Given the description of an element on the screen output the (x, y) to click on. 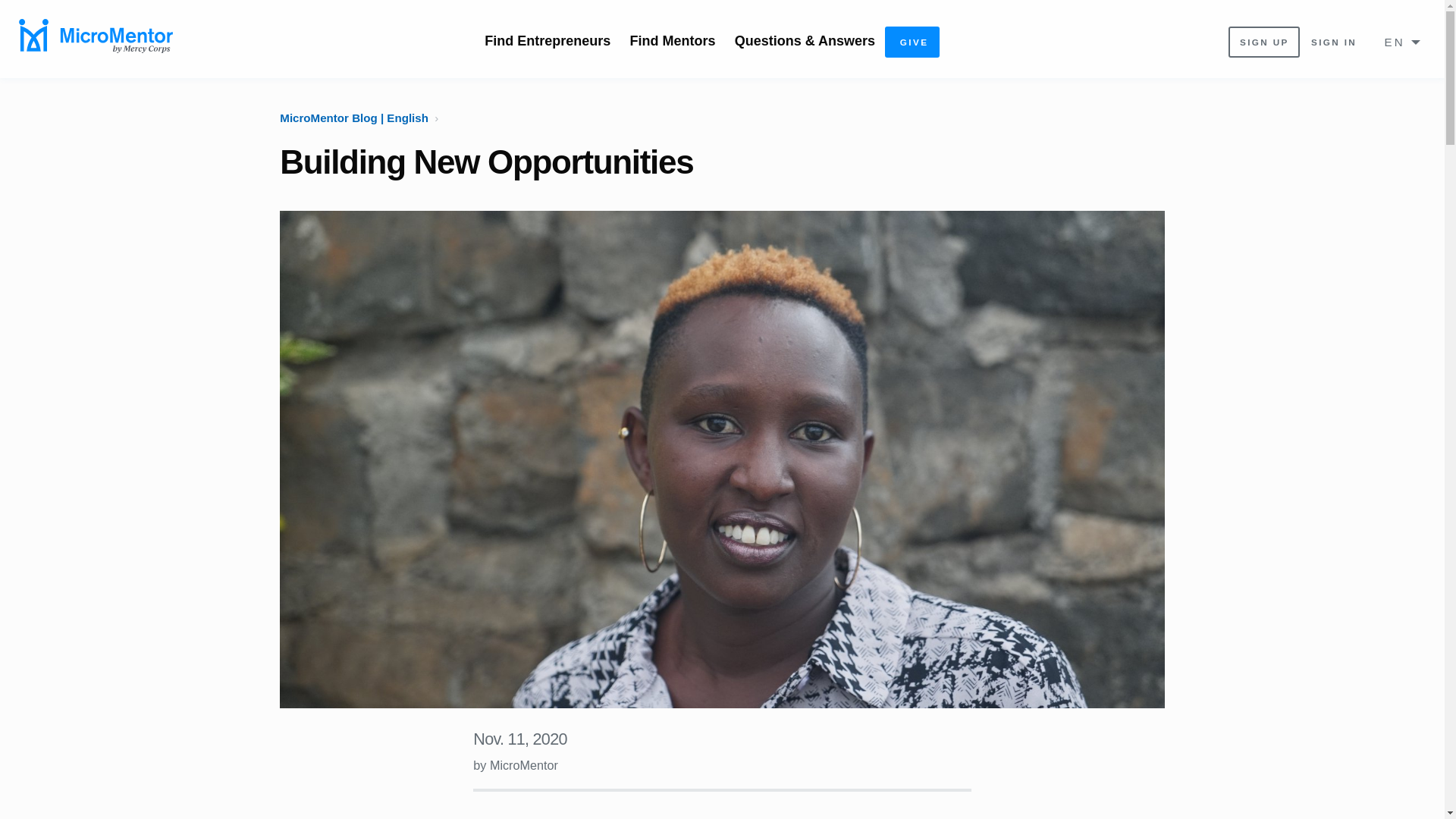
Find Mentors (672, 40)
 GIVE (912, 41)
 EN (1396, 41)
Find Entrepreneurs (548, 40)
SIGN UP (1264, 41)
SIGN IN (1333, 41)
